Given the description of an element on the screen output the (x, y) to click on. 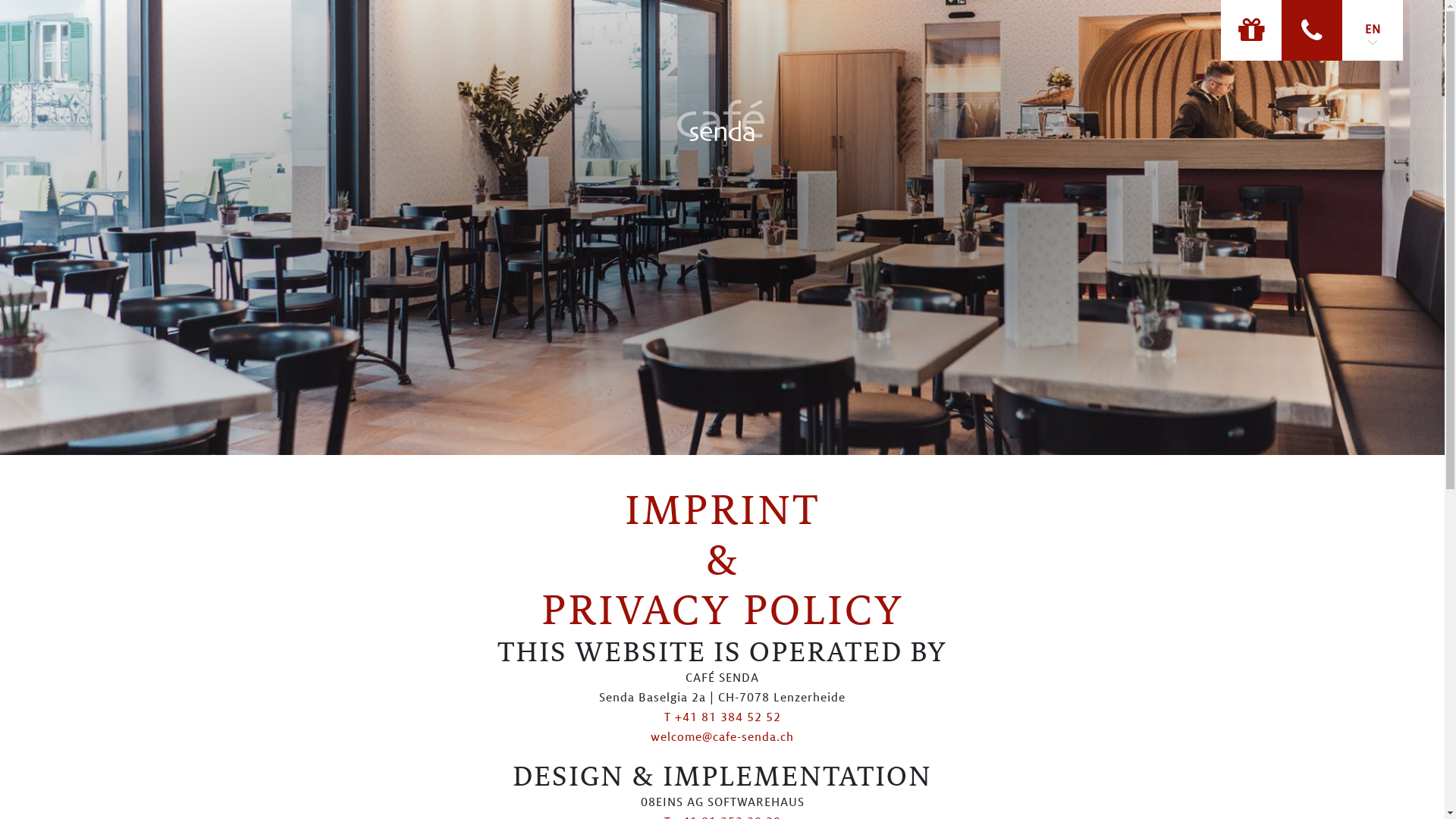
welcome@cafe-senda.ch Element type: text (721, 737)
EN Element type: text (1372, 29)
EN Element type: text (1372, 30)
T +41 81 384 52 52 Element type: text (722, 717)
